Given the description of an element on the screen output the (x, y) to click on. 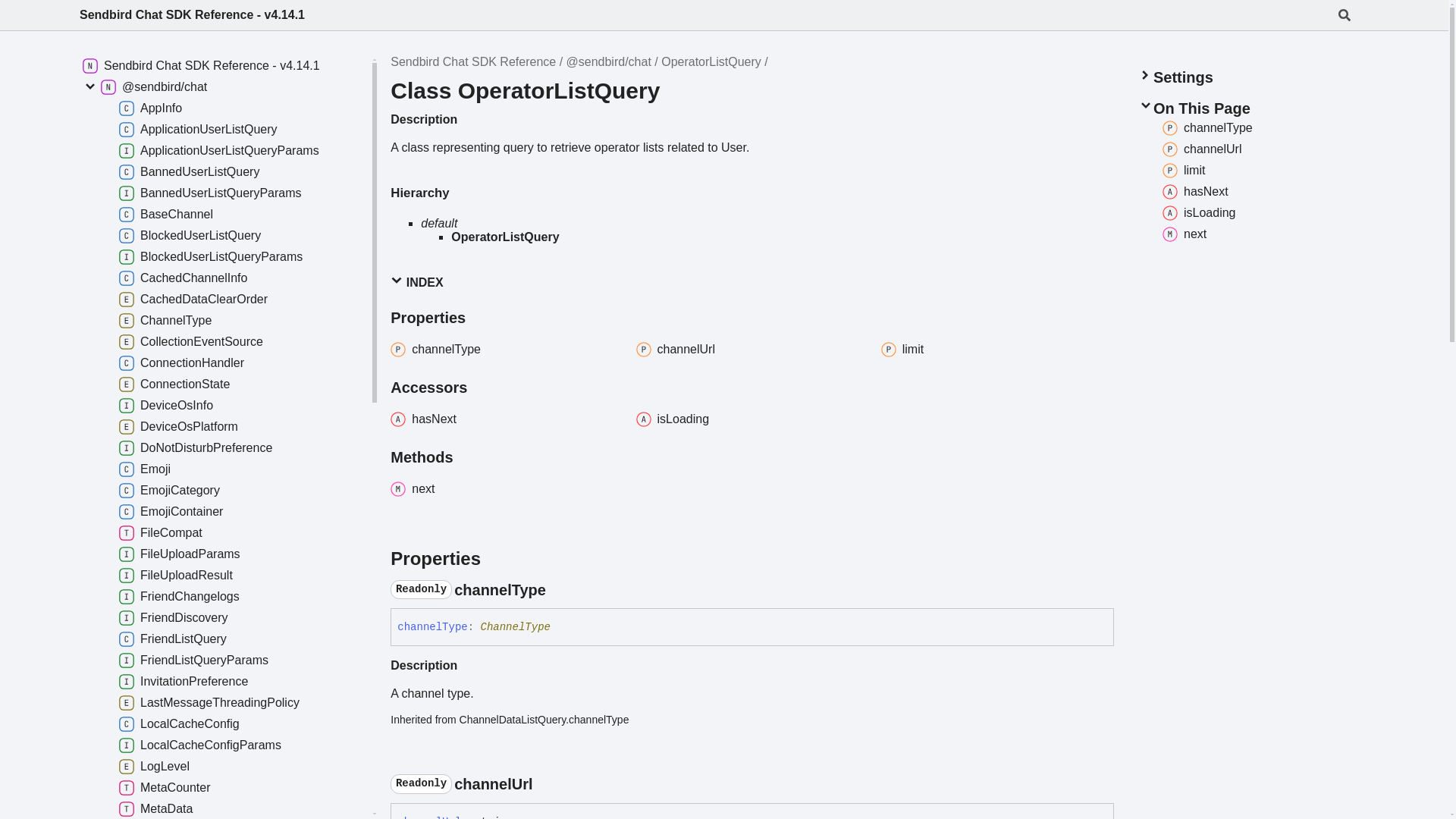
ApplicationUserListQuery (229, 129)
channelType (1206, 127)
limit (1183, 169)
OperatorListQuery (711, 61)
Sendbird Chat SDK Reference (473, 61)
next (506, 488)
hasNext (506, 418)
channelUrl (752, 349)
channelType (506, 349)
isLoading (1198, 212)
